Given the description of an element on the screen output the (x, y) to click on. 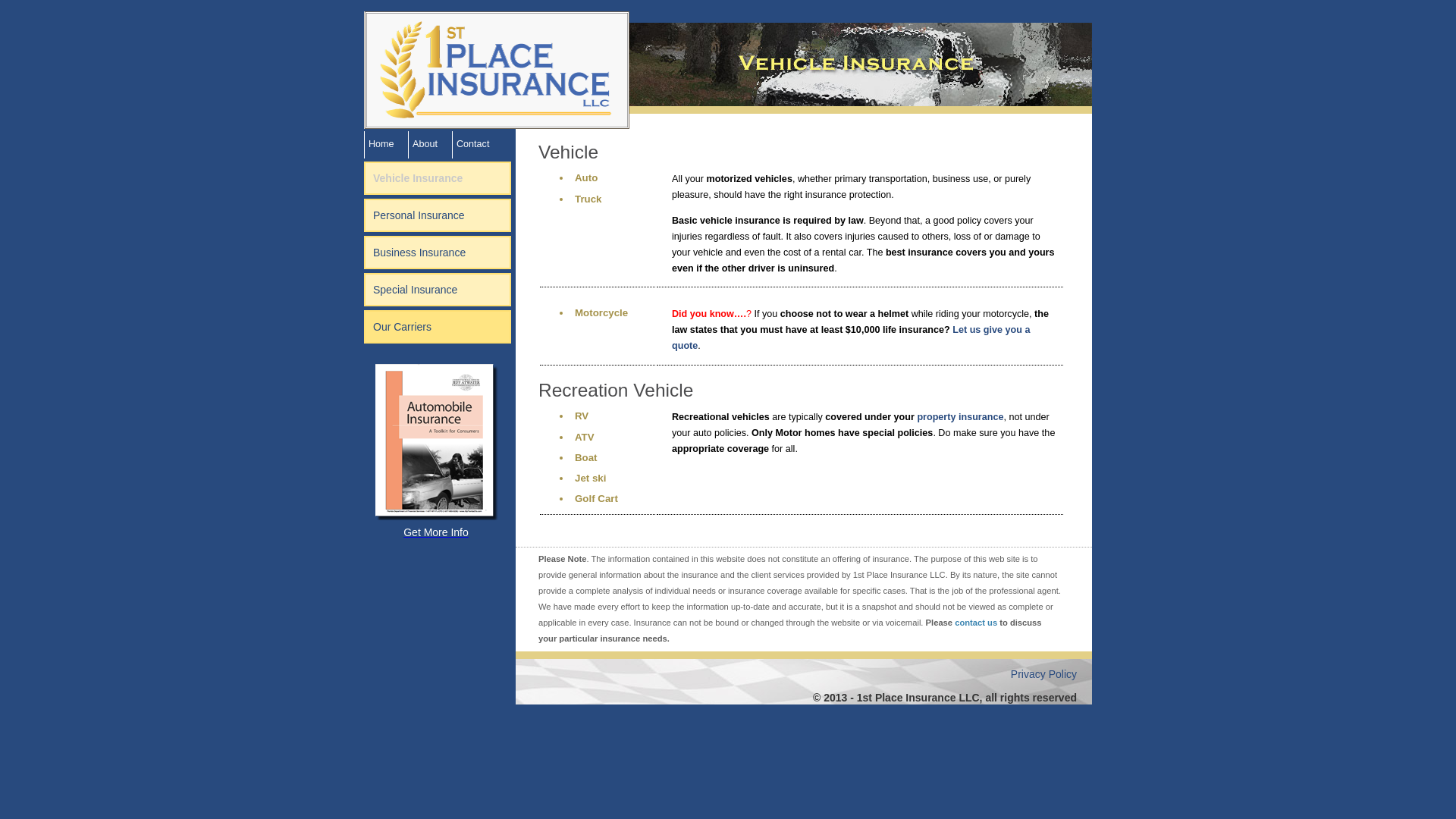
contact us Element type: text (975, 622)
Business Insurance Element type: text (419, 252)
Privacy Policy Element type: text (1043, 674)
Personal Insurance Element type: text (418, 215)
Special Insurance Element type: text (415, 289)
property insurance Element type: text (959, 416)
Contact Element type: text (472, 143)
Home Element type: text (381, 143)
Let us give you a quote Element type: text (850, 337)
Our Carriers Element type: text (402, 326)
Get More Info Element type: text (437, 525)
About Element type: text (424, 143)
